Given the description of an element on the screen output the (x, y) to click on. 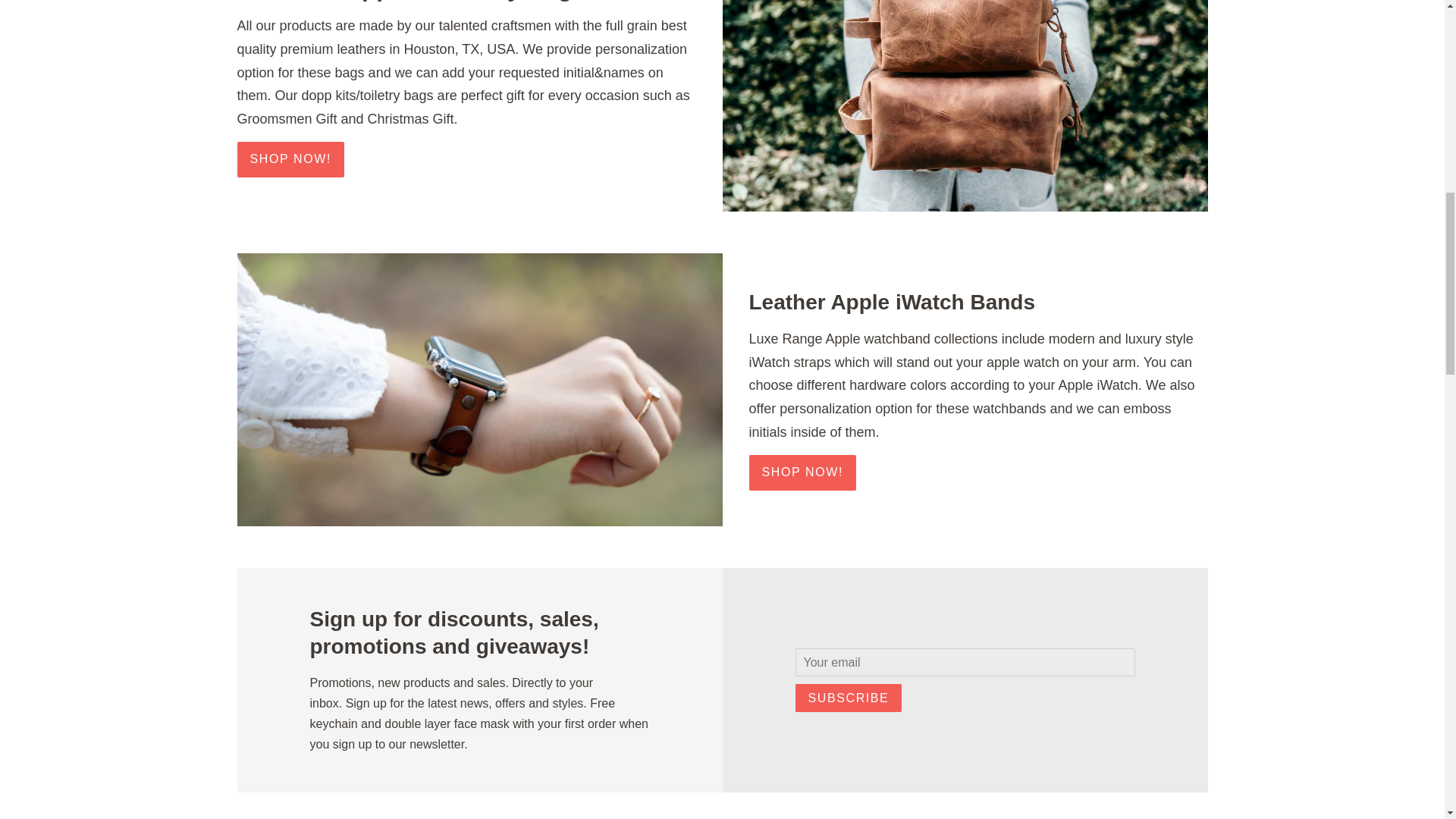
SUBSCRIBE (847, 697)
SHOP NOW! (289, 159)
SHOP NOW! (802, 472)
